Given the description of an element on the screen output the (x, y) to click on. 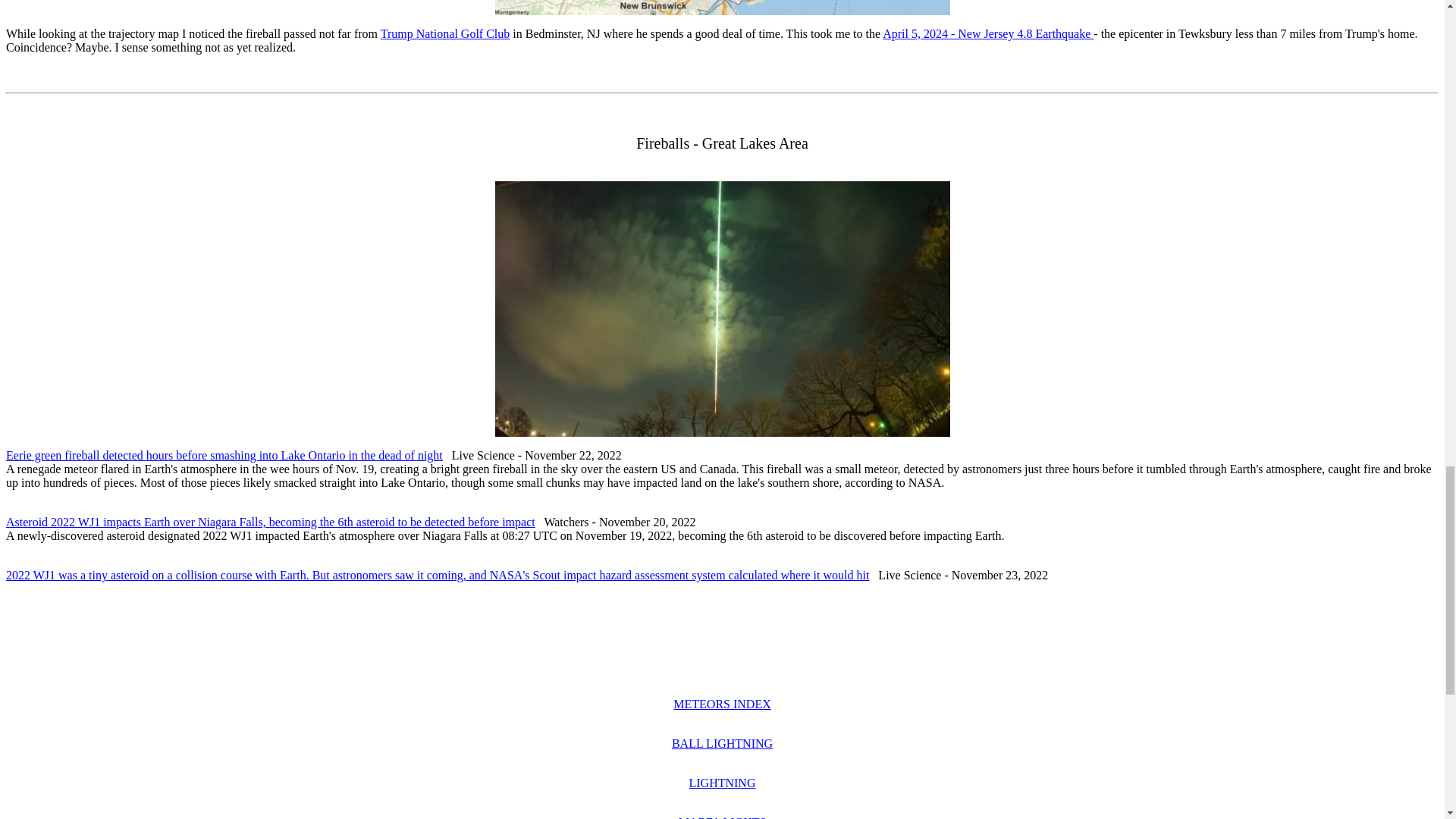
LIGHTNING (721, 782)
April 5, 2024 - New Jersey 4.8 Earthquake (987, 33)
METEORS INDEX (721, 703)
Trump National Golf Club (445, 33)
BALL LIGHTNING (722, 743)
MARFA LIGHTS (722, 817)
